Given the description of an element on the screen output the (x, y) to click on. 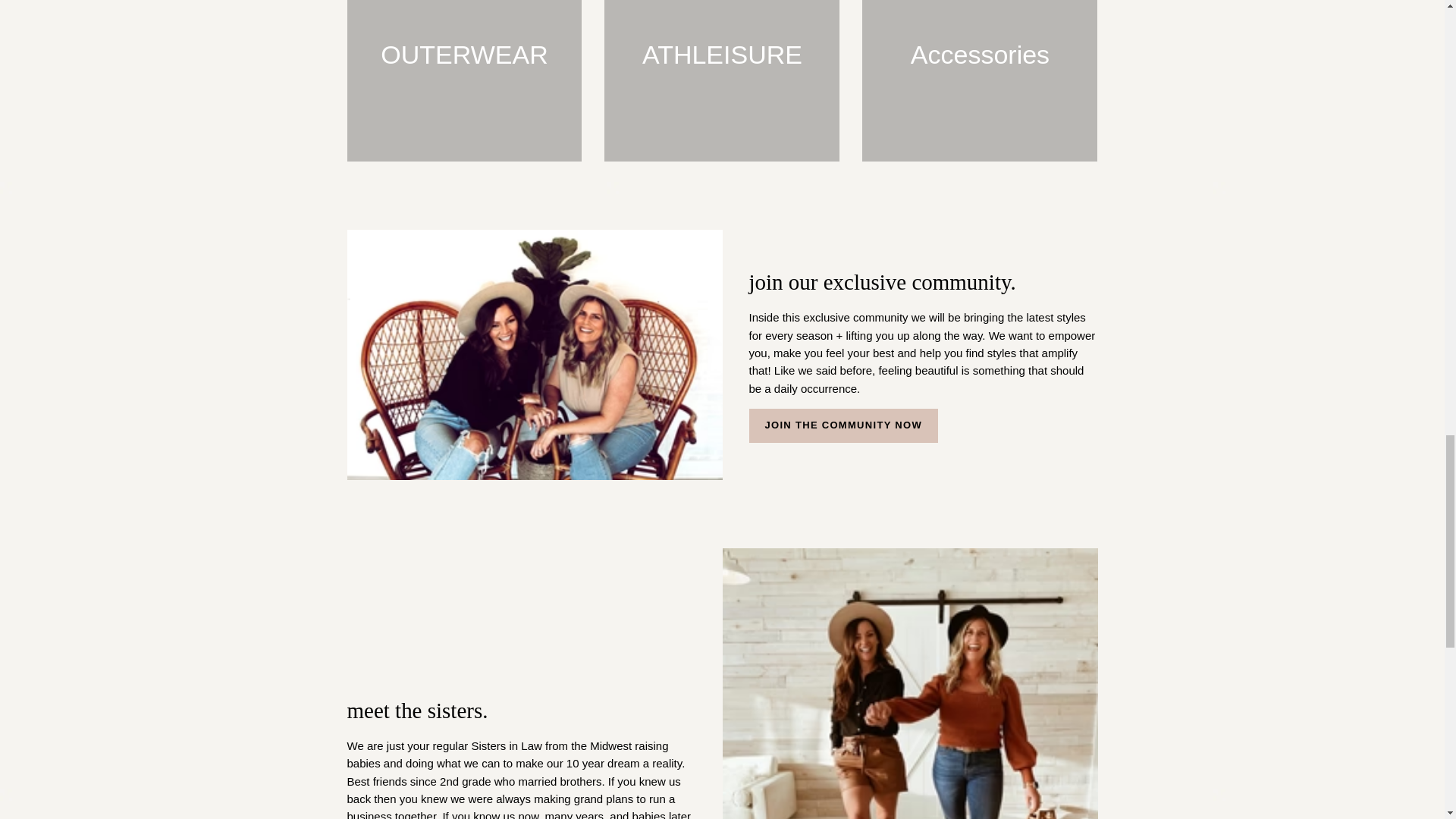
JOIN THE COMMUNITY NOW (843, 425)
Accessories (979, 80)
OUTERWEAR (464, 80)
ATHLEISURE (722, 80)
